Given the description of an element on the screen output the (x, y) to click on. 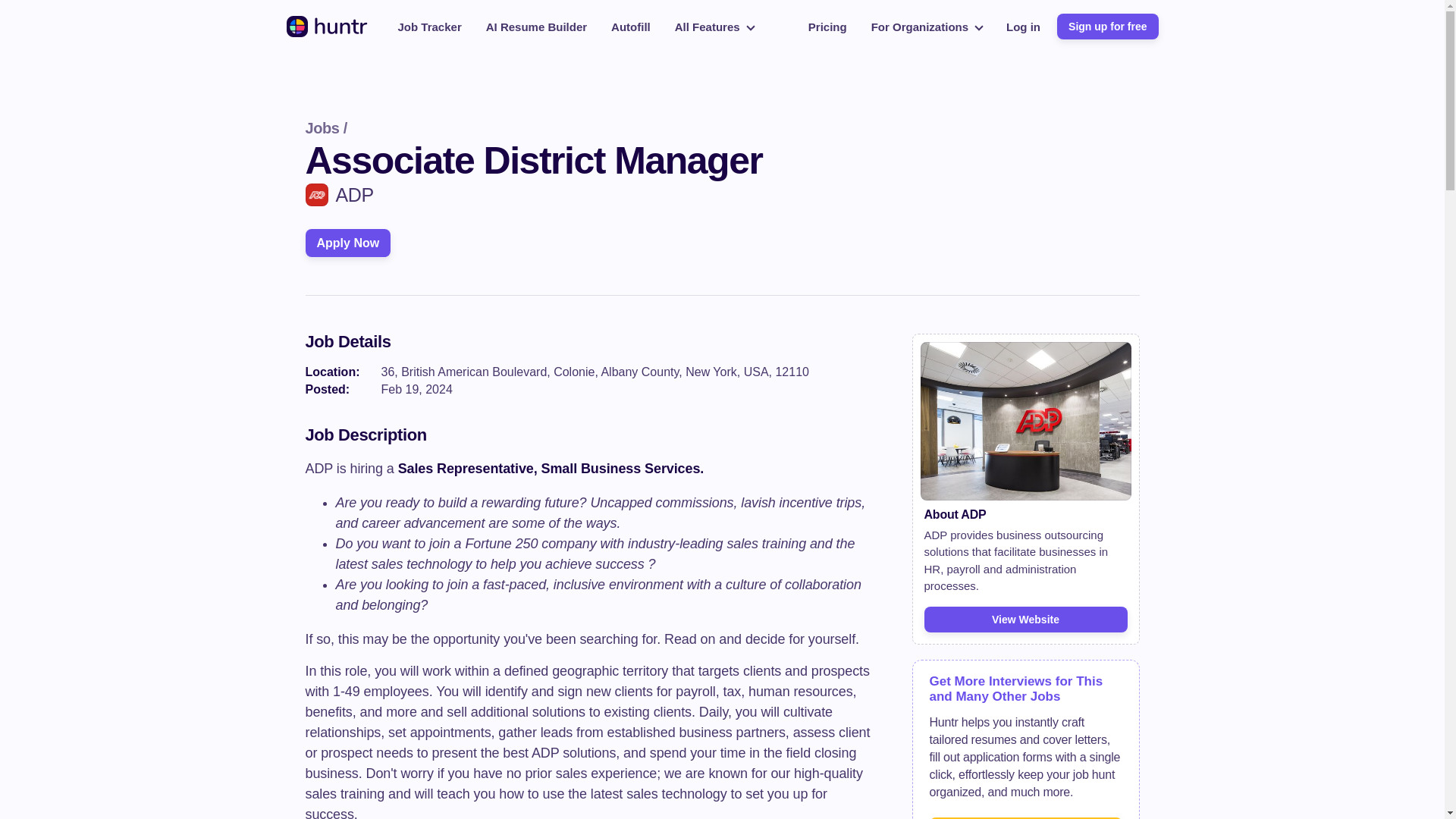
All Features (713, 26)
Autofill (631, 26)
Job Tracker (429, 26)
AI Resume Builder (536, 26)
